Given the description of an element on the screen output the (x, y) to click on. 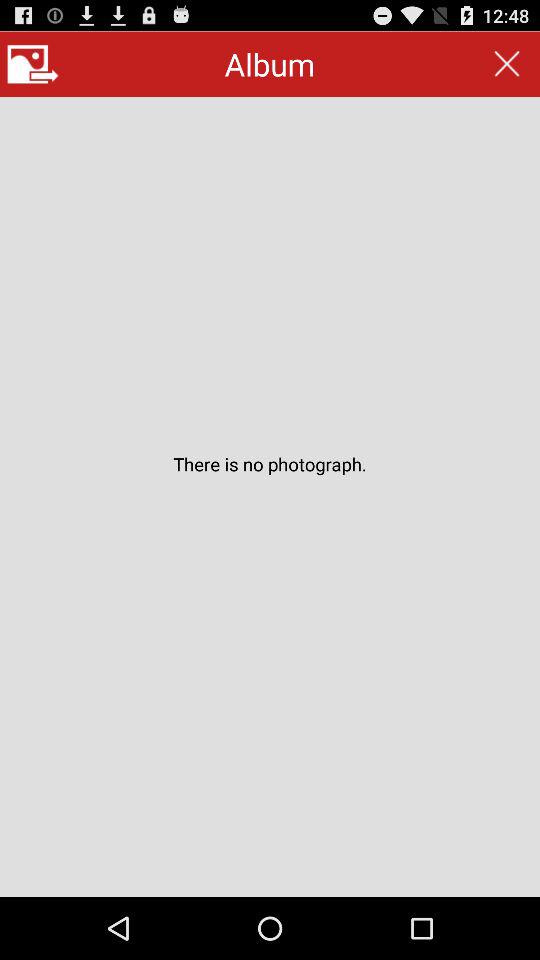
turn on item next to album app (32, 64)
